Given the description of an element on the screen output the (x, y) to click on. 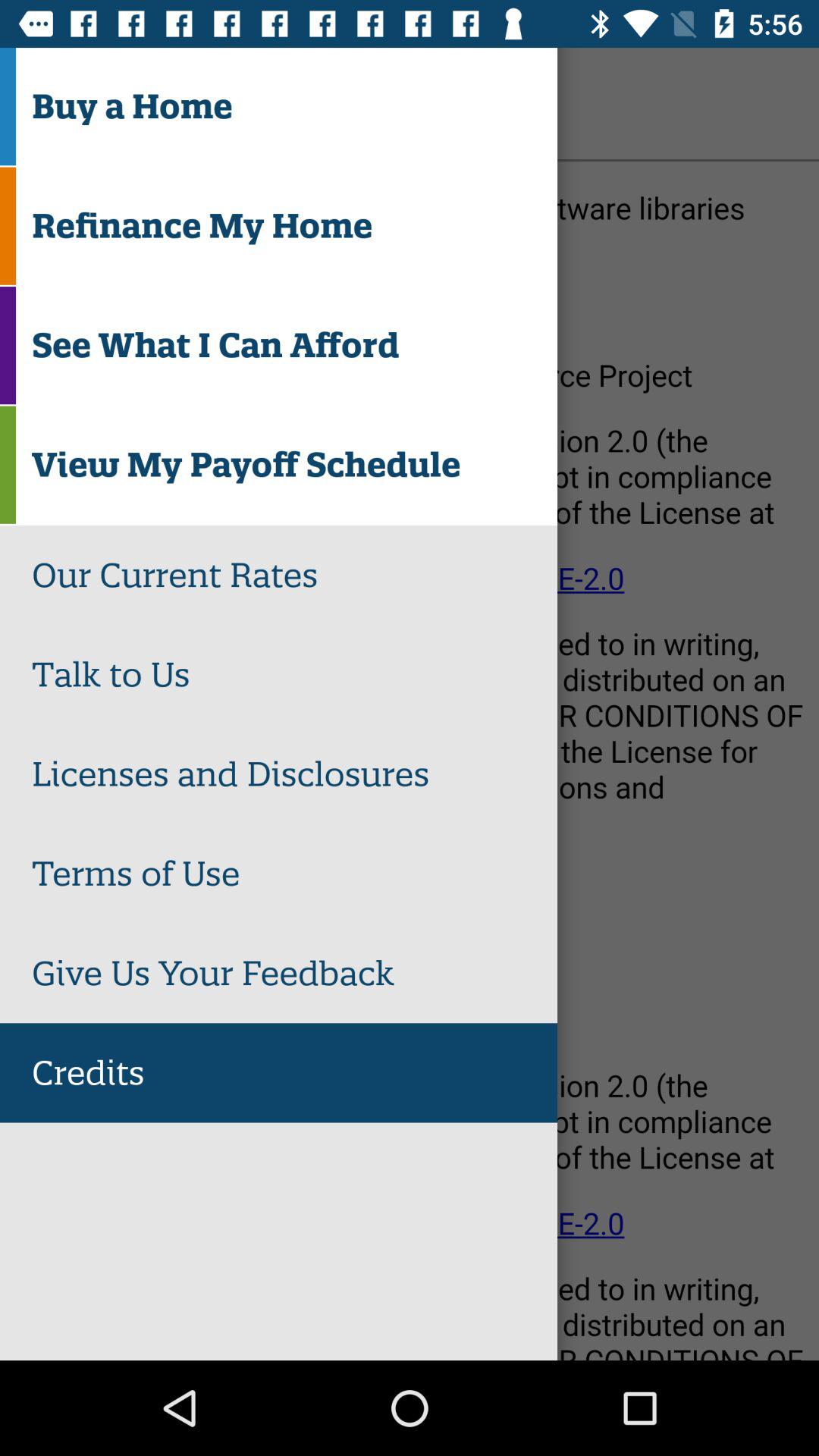
click give us your icon (294, 973)
